Given the description of an element on the screen output the (x, y) to click on. 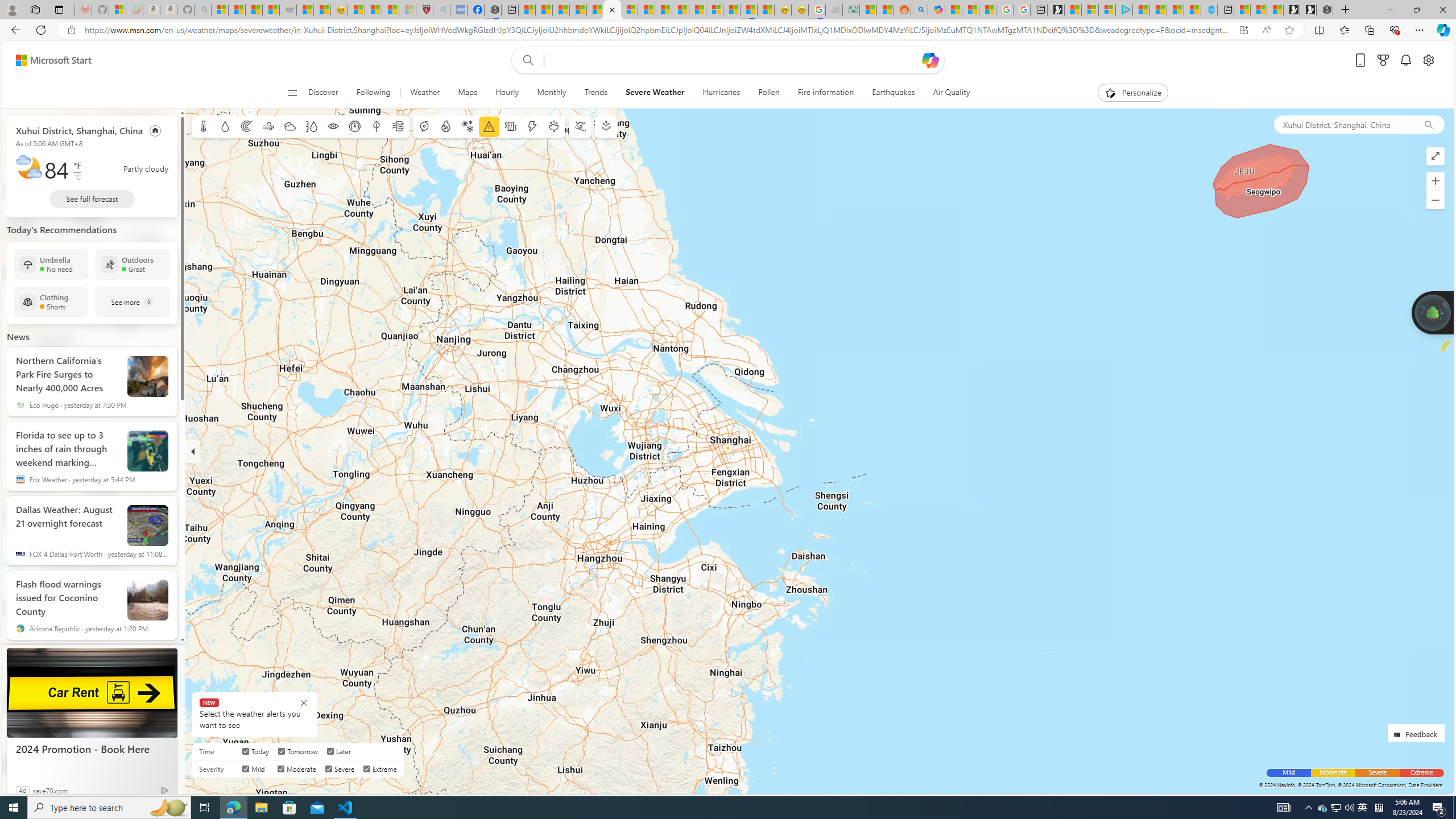
Data Providers (1424, 784)
Precipitation (225, 126)
Visibility (333, 126)
Fire information (825, 92)
Fox Weather (20, 479)
Severe Weather (655, 92)
Xuhui District, Shanghai, China (1342, 124)
